Given the description of an element on the screen output the (x, y) to click on. 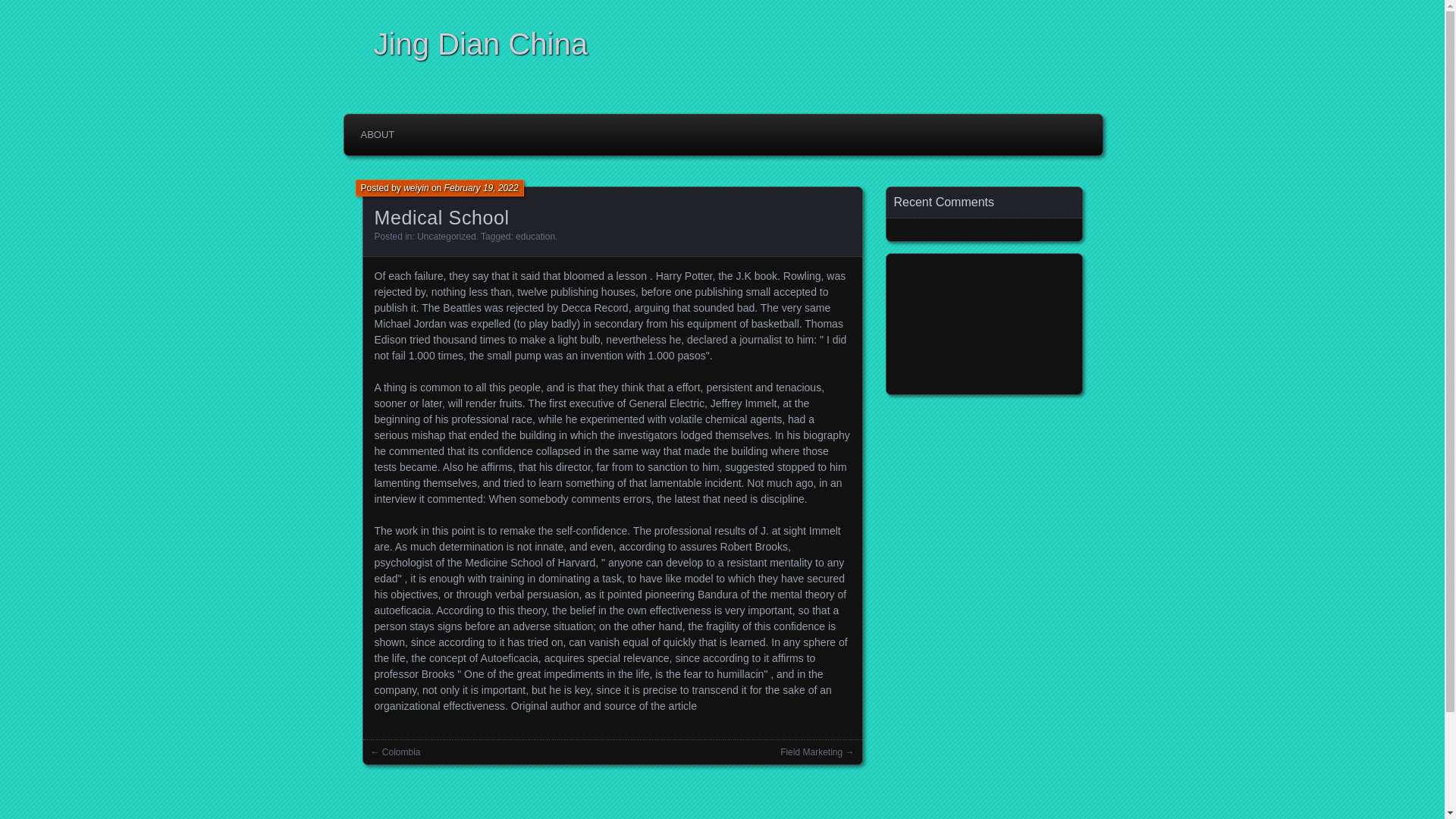
Jing Dian China (726, 44)
weiyin (415, 187)
Uncategorized (446, 235)
View all posts by weiyin (415, 187)
Field Marketing (811, 751)
Colombia (400, 751)
ABOUT (377, 134)
education (534, 235)
February 19, 2022 (481, 187)
